Given the description of an element on the screen output the (x, y) to click on. 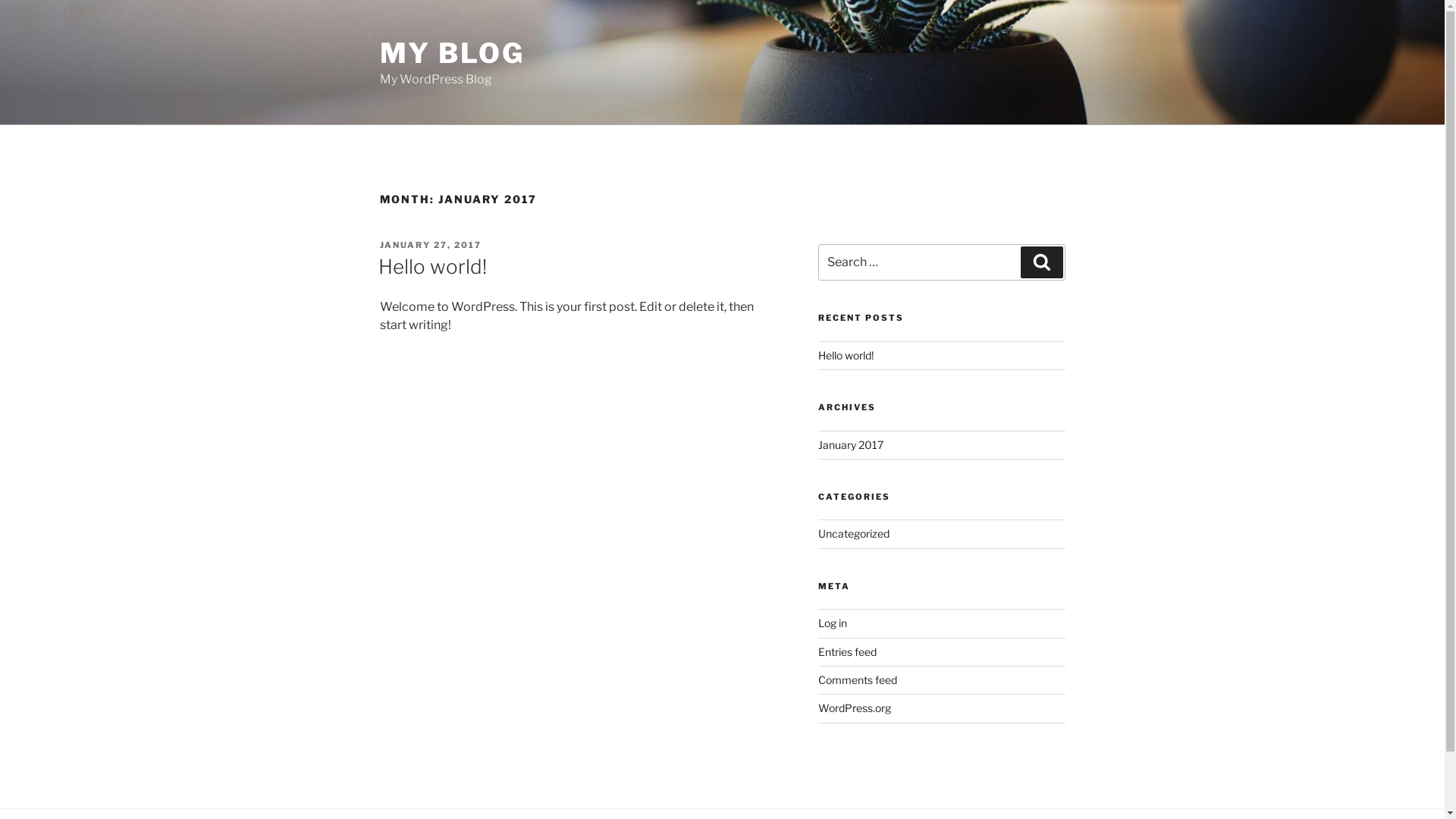
Log in Element type: text (832, 622)
Entries feed Element type: text (847, 651)
Hello world! Element type: text (845, 354)
WordPress.org Element type: text (854, 707)
Uncategorized Element type: text (853, 533)
Search Element type: text (1041, 262)
Hello world! Element type: text (431, 266)
JANUARY 27, 2017 Element type: text (430, 244)
January 2017 Element type: text (850, 444)
Comments feed Element type: text (857, 679)
MY BLOG Element type: text (451, 52)
